Given the description of an element on the screen output the (x, y) to click on. 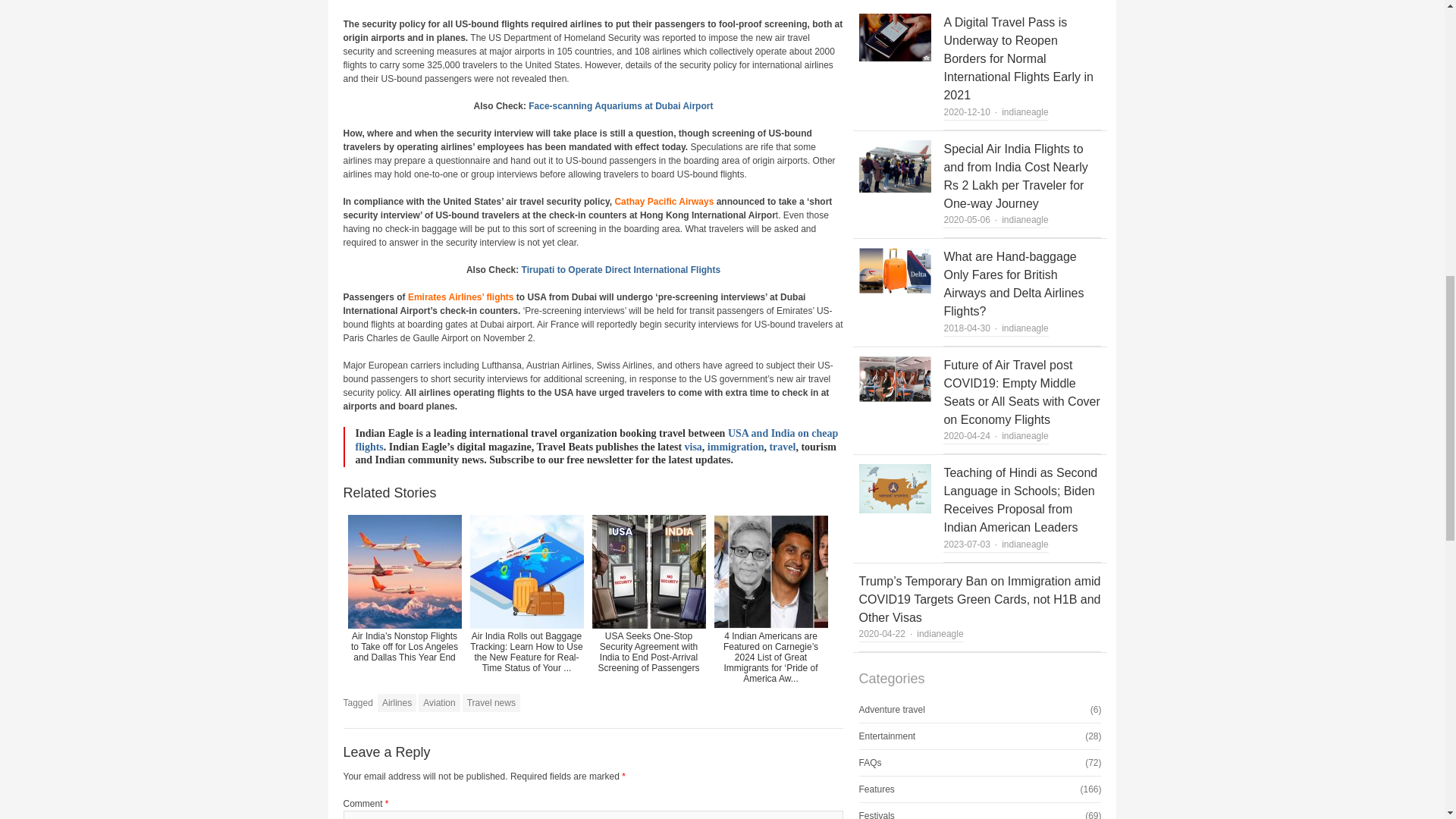
Travel news (491, 702)
travel (781, 446)
Cathay Pacific Airways (663, 201)
visa (692, 446)
Face-scanning Aquariums at Dubai Airport (620, 105)
immigration (735, 446)
USA and India on cheap flights (596, 439)
Airlines (396, 702)
Aviation (439, 702)
Tirupati to Operate Direct International Flights (620, 269)
